Given the description of an element on the screen output the (x, y) to click on. 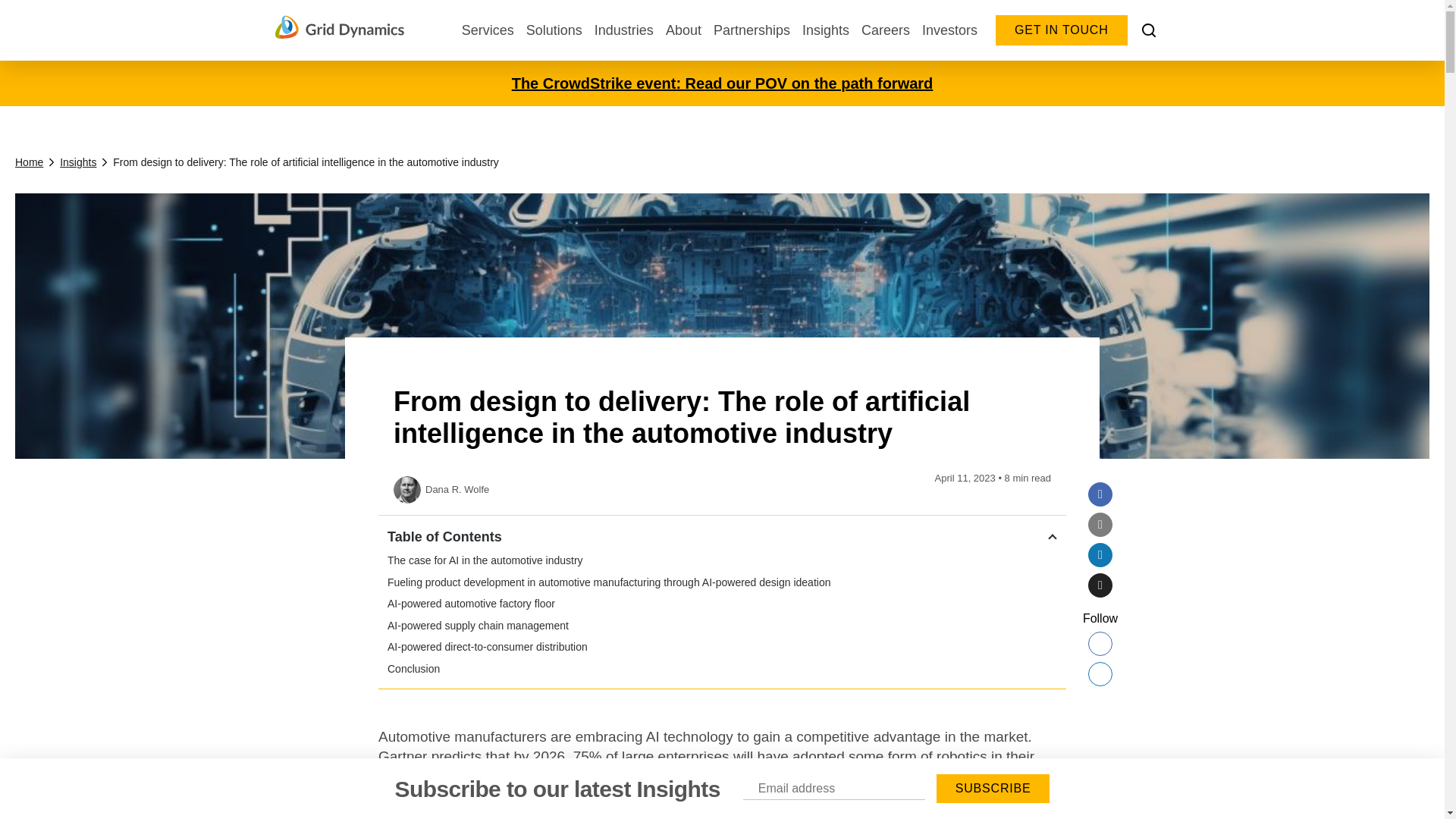
Email (1099, 524)
Linkedin (1099, 554)
Services (487, 30)
Print (1099, 585)
Facebook (1099, 494)
Solutions (553, 30)
